Given the description of an element on the screen output the (x, y) to click on. 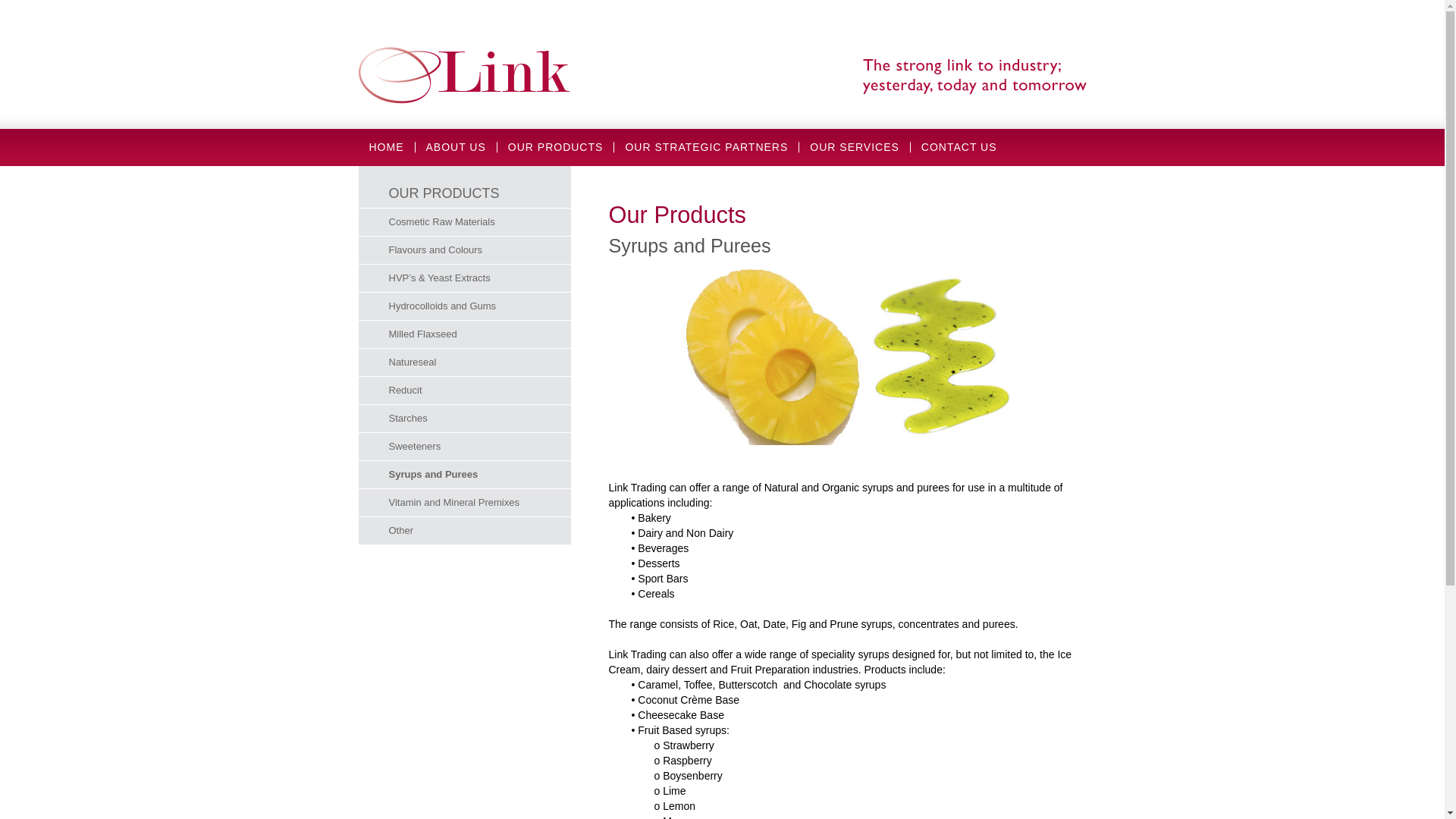
Starches Element type: text (463, 418)
Other Element type: text (463, 530)
Milled Flaxseed Element type: text (463, 334)
Cosmetic Raw Materials Element type: text (463, 221)
Vitamin and Mineral Premixes Element type: text (463, 502)
Reducit Element type: text (463, 390)
OUR STRATEGIC PARTNERS Element type: text (706, 147)
HOME Element type: text (385, 147)
Natureseal Element type: text (463, 362)
Flavours and Colours Element type: text (463, 249)
Sweeteners Element type: text (463, 446)
OUR SERVICES Element type: text (854, 147)
OUR PRODUCTS Element type: text (443, 192)
Hydrocolloids and Gums Element type: text (463, 305)
OUR PRODUCTS Element type: text (555, 147)
ABOUT US Element type: text (455, 147)
Syrups and Purees Element type: text (463, 474)
CONTACT US Element type: text (958, 147)
